Given the description of an element on the screen output the (x, y) to click on. 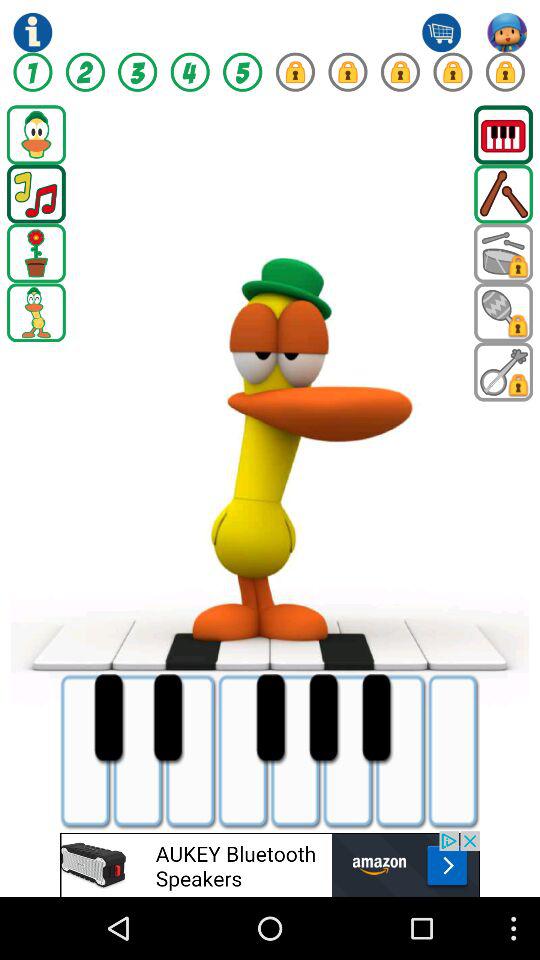
emoji (503, 253)
